Given the description of an element on the screen output the (x, y) to click on. 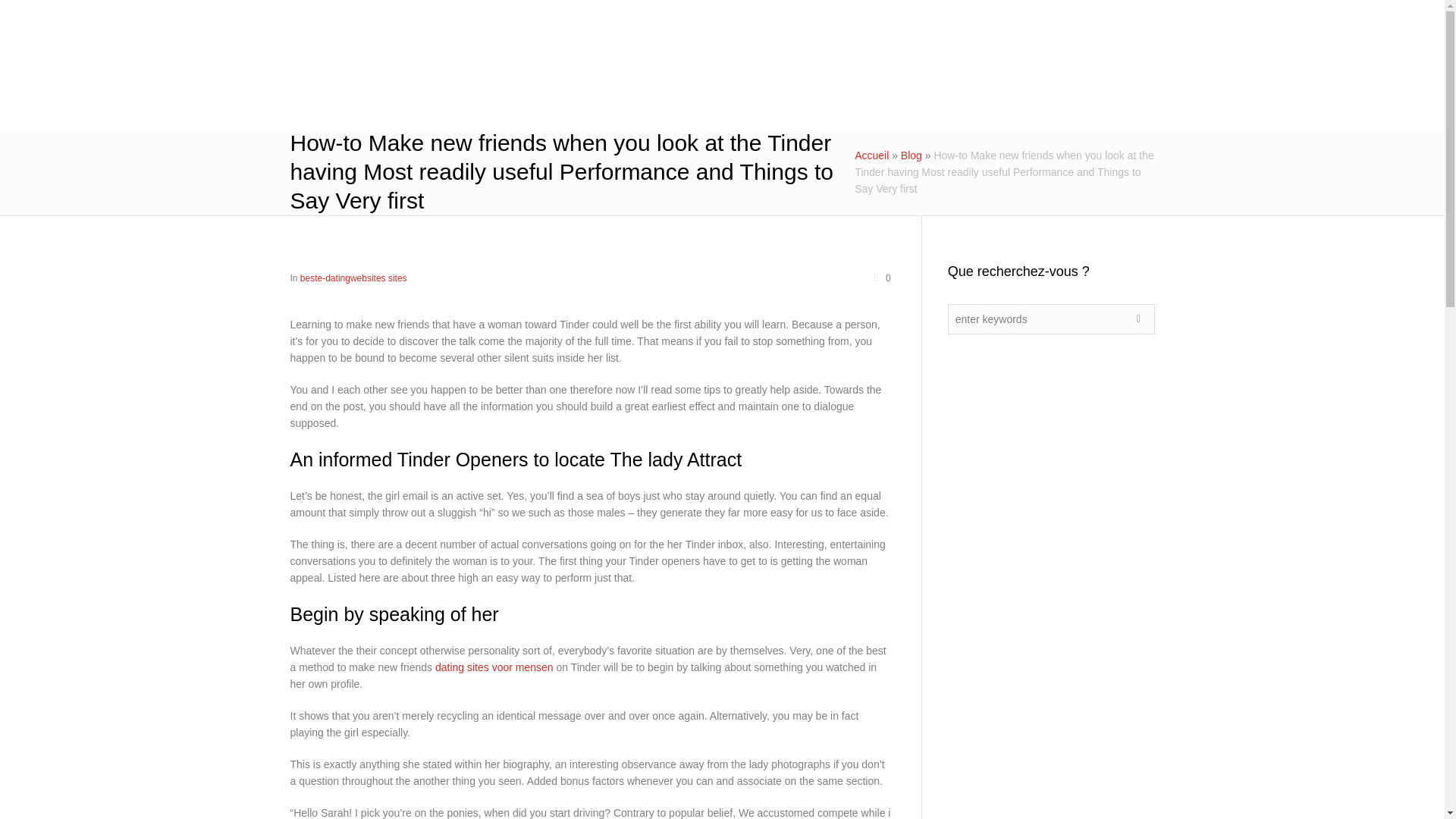
0 (880, 277)
Accueil (871, 155)
beste-datingwebsites sites (353, 277)
dating sites voor mensen (494, 666)
Blog (911, 155)
